Given the description of an element on the screen output the (x, y) to click on. 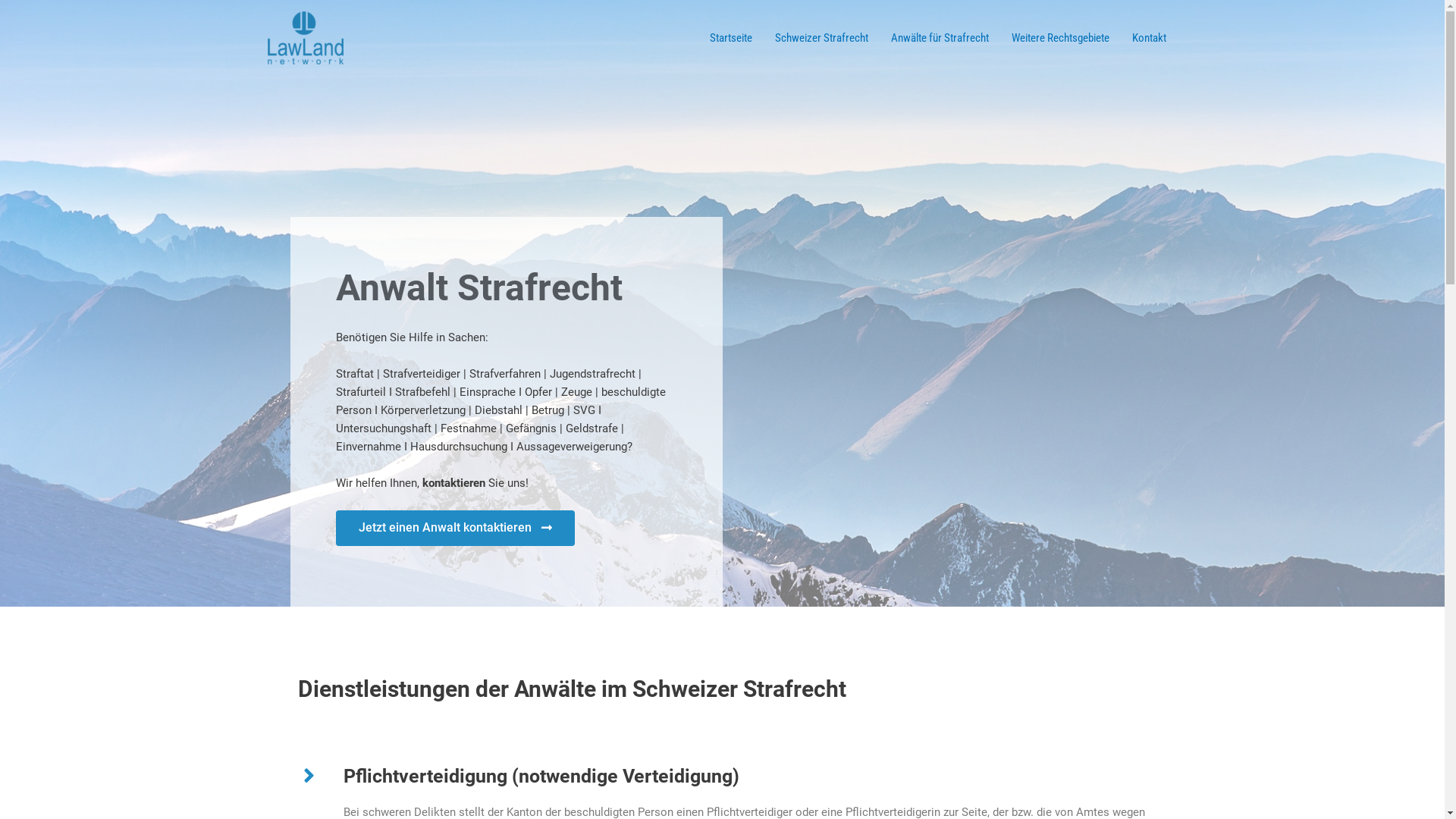
Kontakt Element type: text (1148, 37)
Weitere Rechtsgebiete Element type: text (1059, 37)
Startseite Element type: text (729, 37)
Jetzt einen Anwalt kontaktieren Element type: text (454, 528)
Schweizer Strafrecht Element type: text (820, 37)
